Given the description of an element on the screen output the (x, y) to click on. 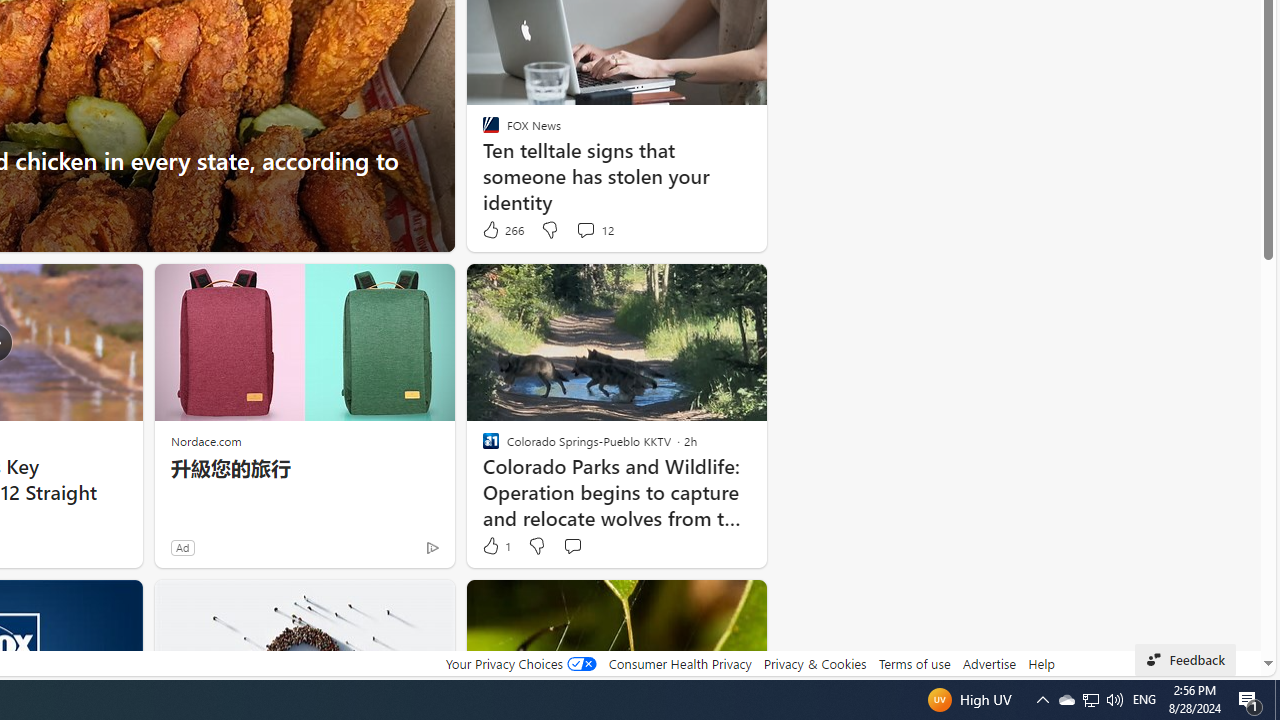
Hide this story (706, 603)
Help (1040, 663)
266 Like (502, 230)
1 Like (495, 546)
View comments 12 Comment (594, 230)
Terms of use (914, 663)
Your Privacy Choices (520, 663)
Consumer Health Privacy (680, 663)
